Given the description of an element on the screen output the (x, y) to click on. 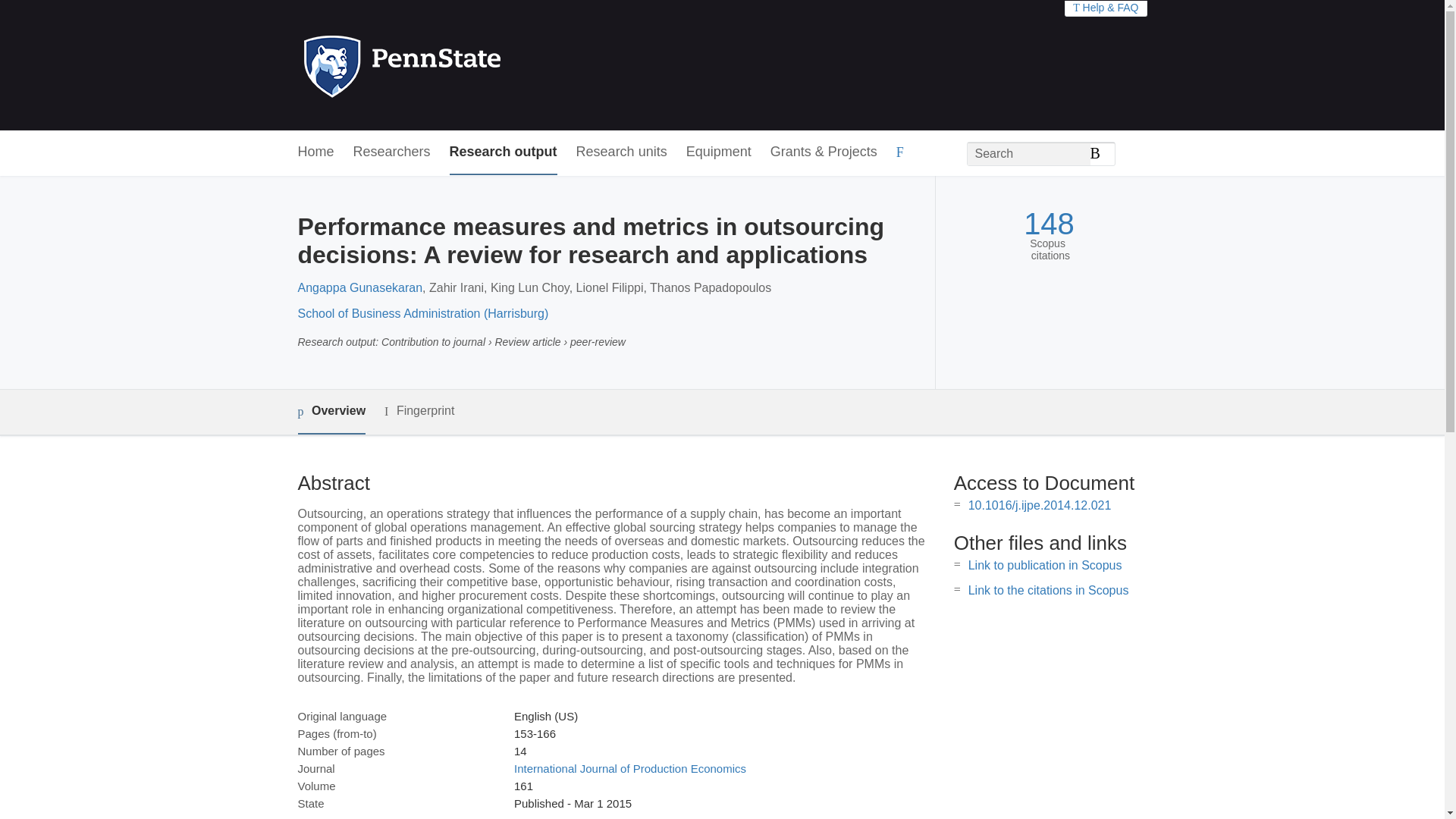
International Journal of Production Economics (629, 768)
Researchers (391, 152)
Angappa Gunasekaran (359, 287)
Link to the citations in Scopus (1048, 590)
Fingerprint (419, 411)
Equipment (718, 152)
Research output (503, 152)
148 (1048, 223)
Link to publication in Scopus (1045, 564)
Penn State Home (467, 65)
